Given the description of an element on the screen output the (x, y) to click on. 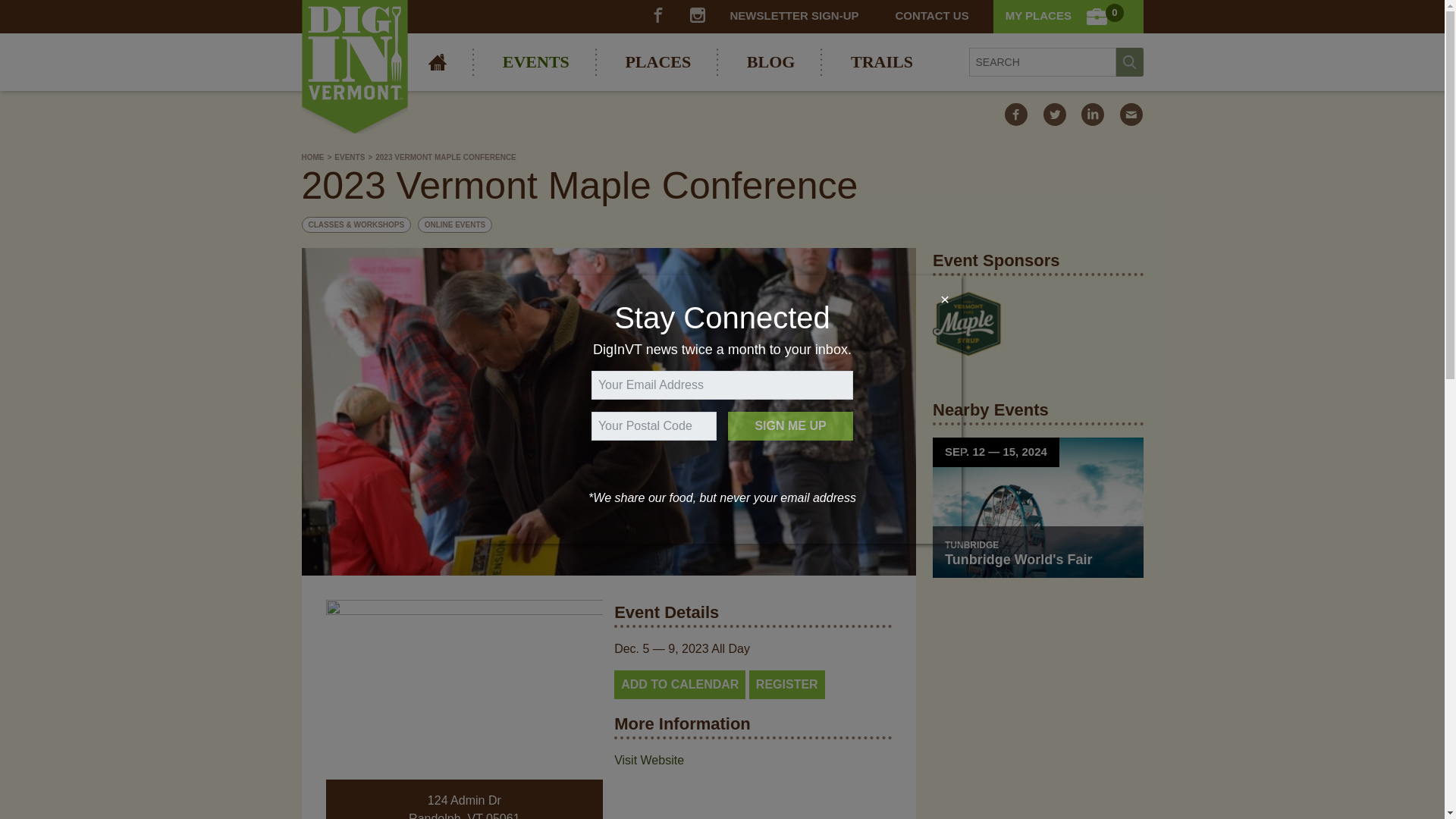
Find Dig In Vermont on Facebook (658, 15)
SIGN ME UP (790, 425)
ONLINE EVENTS (455, 224)
CONTACT US (930, 16)
BLOG (770, 62)
LinkedIn (1092, 114)
TRAILS (881, 62)
Email (1130, 114)
HOME (437, 62)
